Given the description of an element on the screen output the (x, y) to click on. 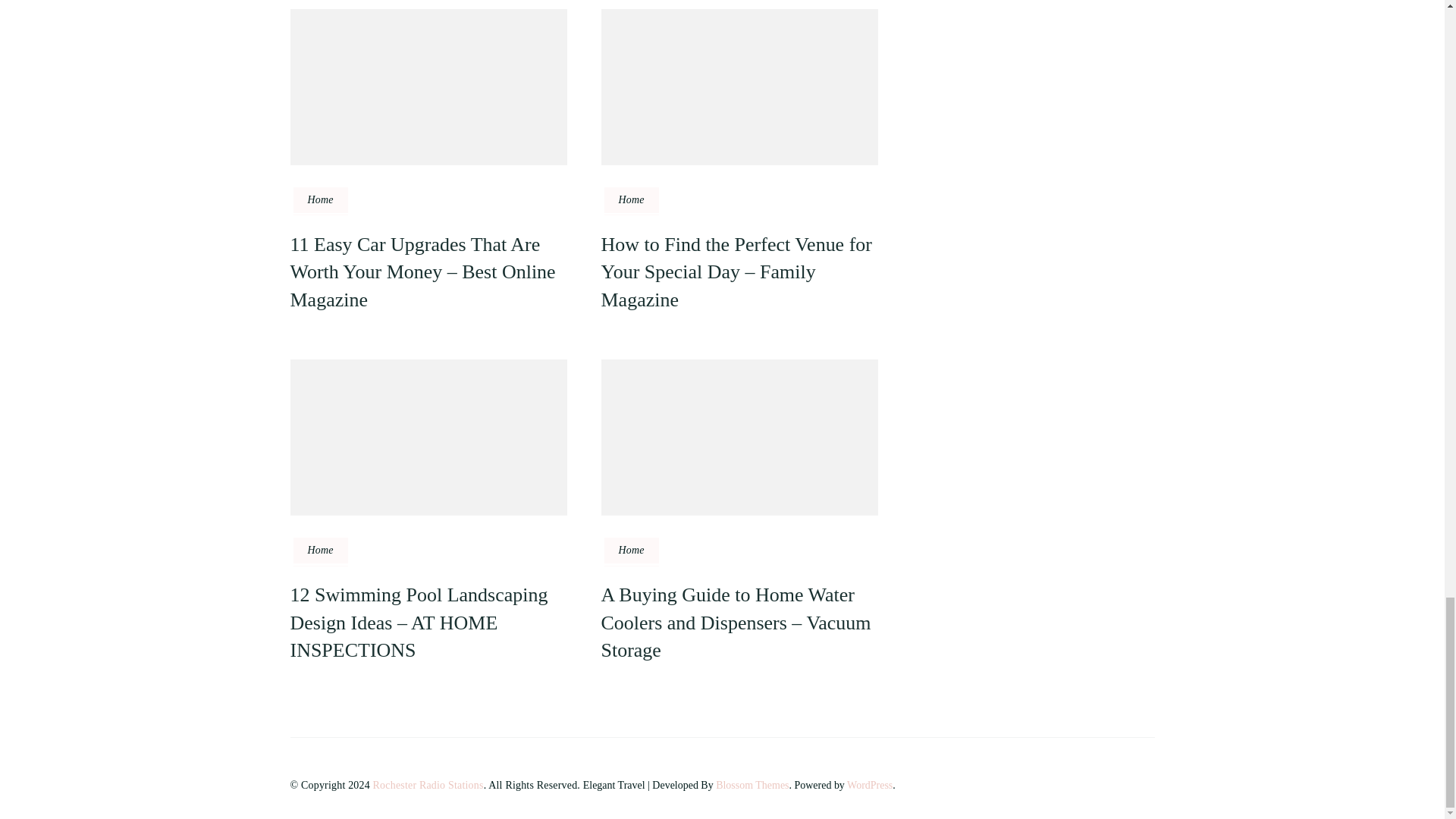
Home (631, 550)
Home (319, 199)
Home (631, 199)
Home (319, 550)
